Given the description of an element on the screen output the (x, y) to click on. 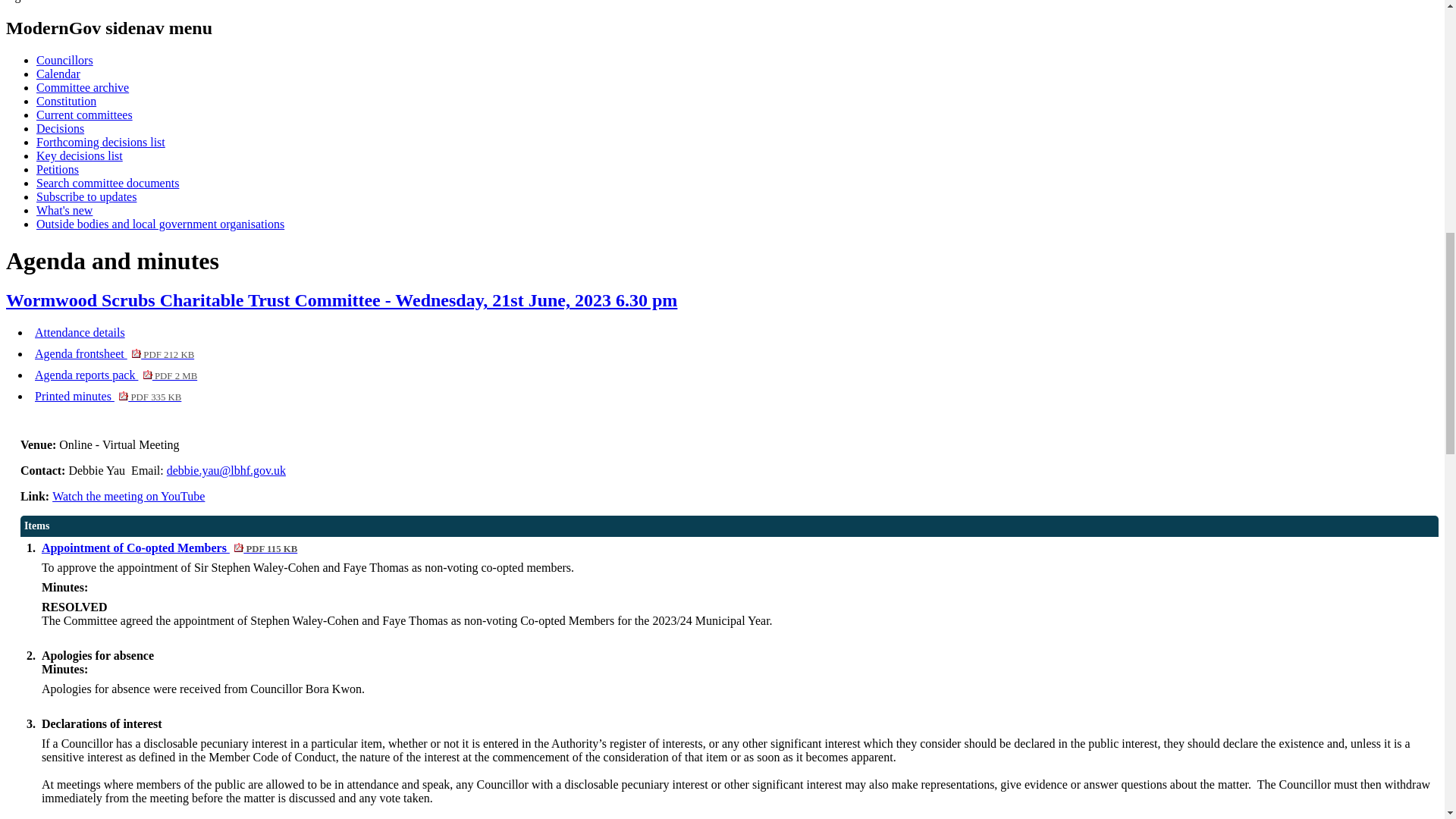
Link to agenda frontsheet pdf file (113, 353)
Councillors (64, 60)
Link to agenda reports  document pack pdf file (115, 374)
Link to Wormwood Scrubs Charitable Trust Committee (341, 300)
Link to printed minutes pdf file (107, 395)
Watch the meeting on YouTube (128, 495)
Calendar (58, 73)
Link to document 'Appointment of Co-opted Members' pdf file (169, 547)
